Given the description of an element on the screen output the (x, y) to click on. 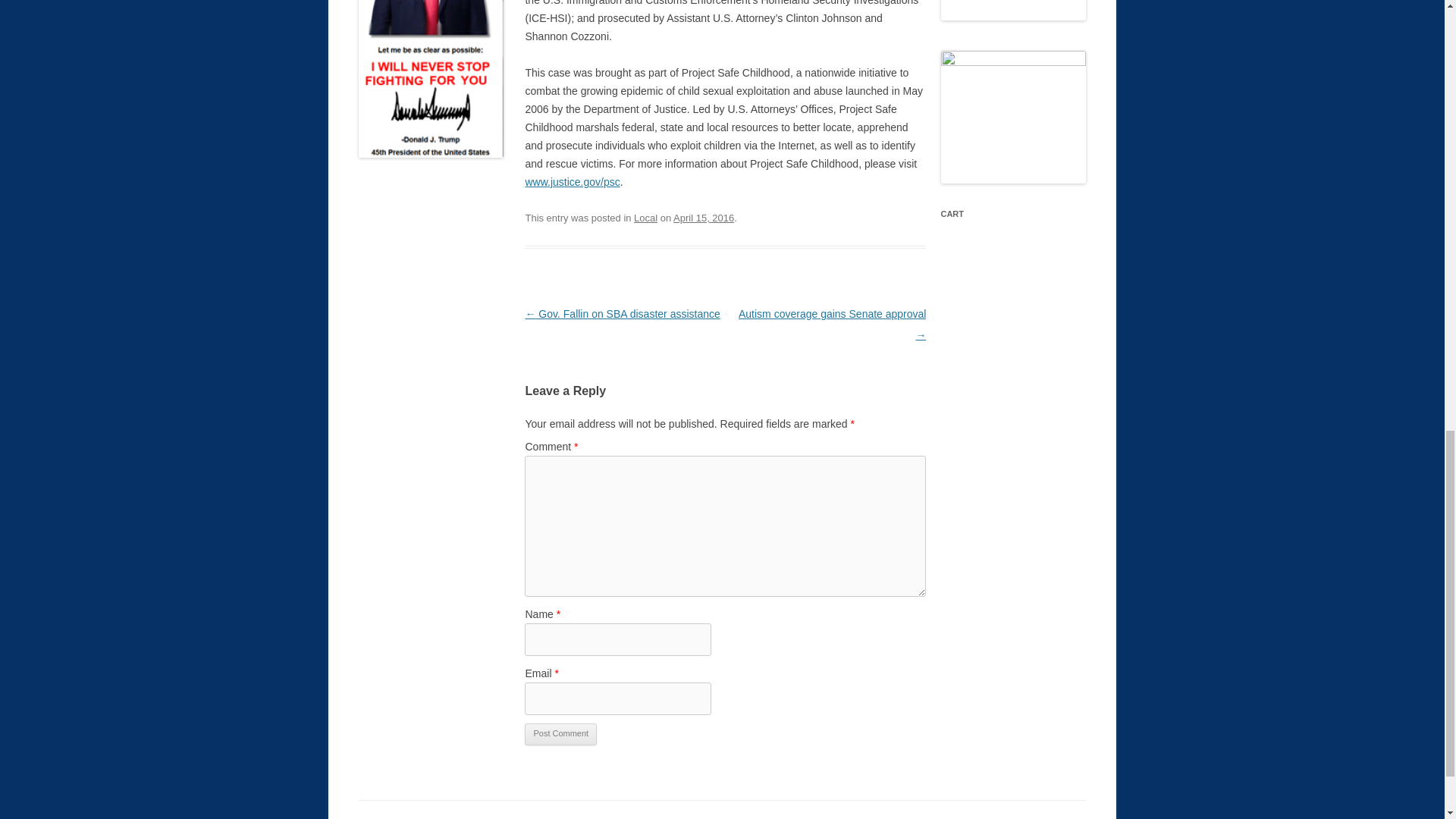
12:36 pm (702, 217)
Local (645, 217)
April 15, 2016 (702, 217)
Post Comment (560, 734)
Post Comment (560, 734)
